Given the description of an element on the screen output the (x, y) to click on. 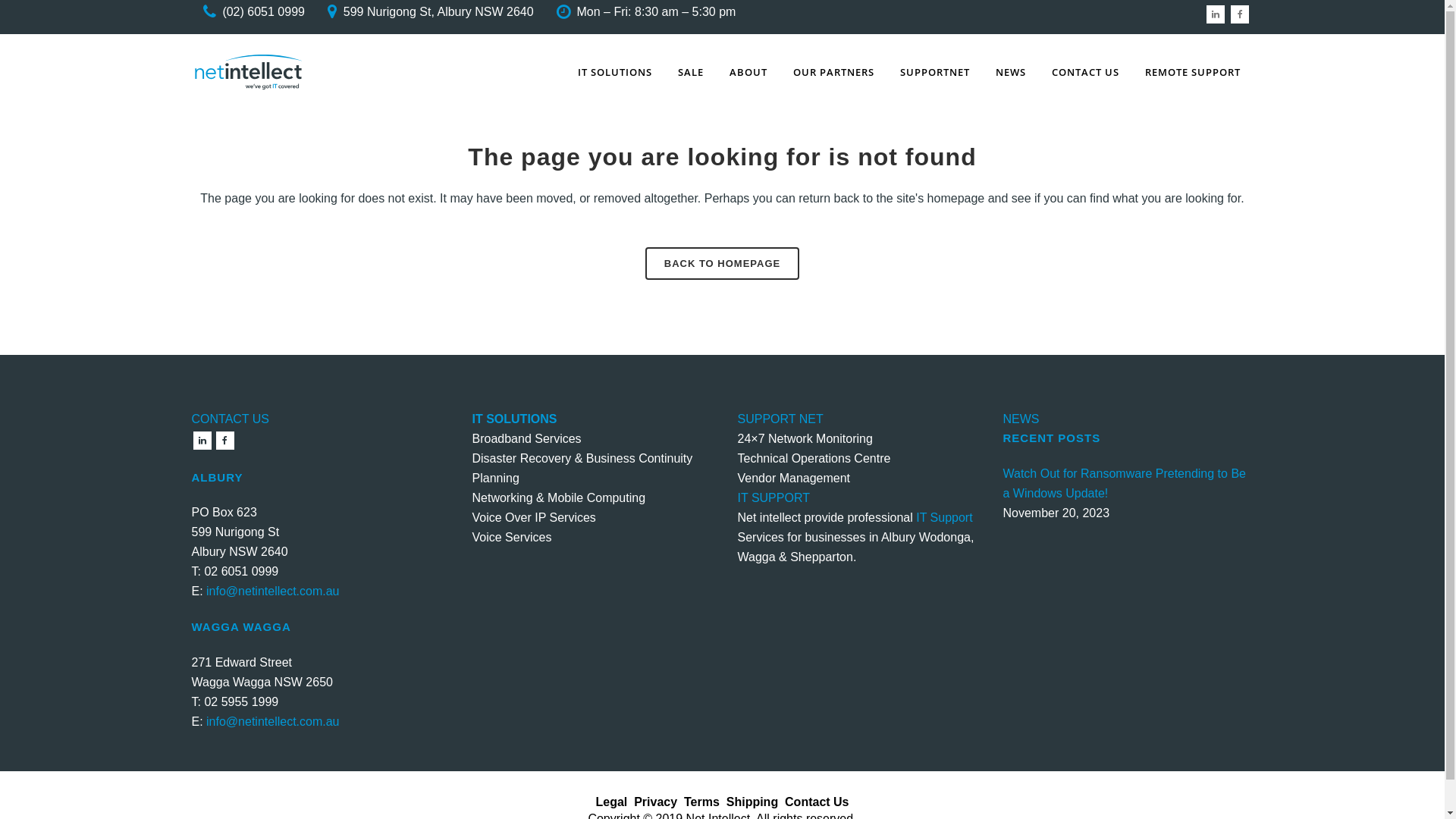
SUPPORT NET Element type: text (779, 418)
CONTACT US Element type: text (1085, 71)
Disaster Recovery & Business Continuity Planning Element type: text (581, 467)
info@netintellect.com.au Element type: text (272, 721)
BACK TO HOMEPAGE Element type: text (722, 263)
Networking & Mobile Computing Element type: text (558, 497)
IT SOLUTIONS Element type: text (513, 418)
Contact Us Element type: text (816, 800)
Technical Operations Centre Element type: text (813, 457)
SUPPORTNET Element type: text (934, 71)
CONTACT US Element type: text (230, 418)
Vendor Management Element type: text (793, 477)
REMOTE SUPPORT Element type: text (1191, 71)
NEWS Element type: text (1020, 418)
Voice Over IP Services Element type: text (533, 517)
Shipping Element type: text (752, 800)
NEWS Element type: text (1010, 71)
OUR PARTNERS Element type: text (832, 71)
IT SOLUTIONS Element type: text (614, 71)
Broadband Services Element type: text (525, 438)
IT SUPPORT Element type: text (773, 497)
ABOUT Element type: text (747, 71)
SALE Element type: text (689, 71)
Privacy Element type: text (655, 800)
Voice Services Element type: text (511, 536)
Watch Out for Ransomware Pretending to Be a Windows Update! Element type: text (1127, 483)
info@netintellect.com.au Element type: text (272, 590)
IT Support Element type: text (944, 517)
Terms Element type: text (701, 800)
Legal Element type: text (611, 800)
